Given the description of an element on the screen output the (x, y) to click on. 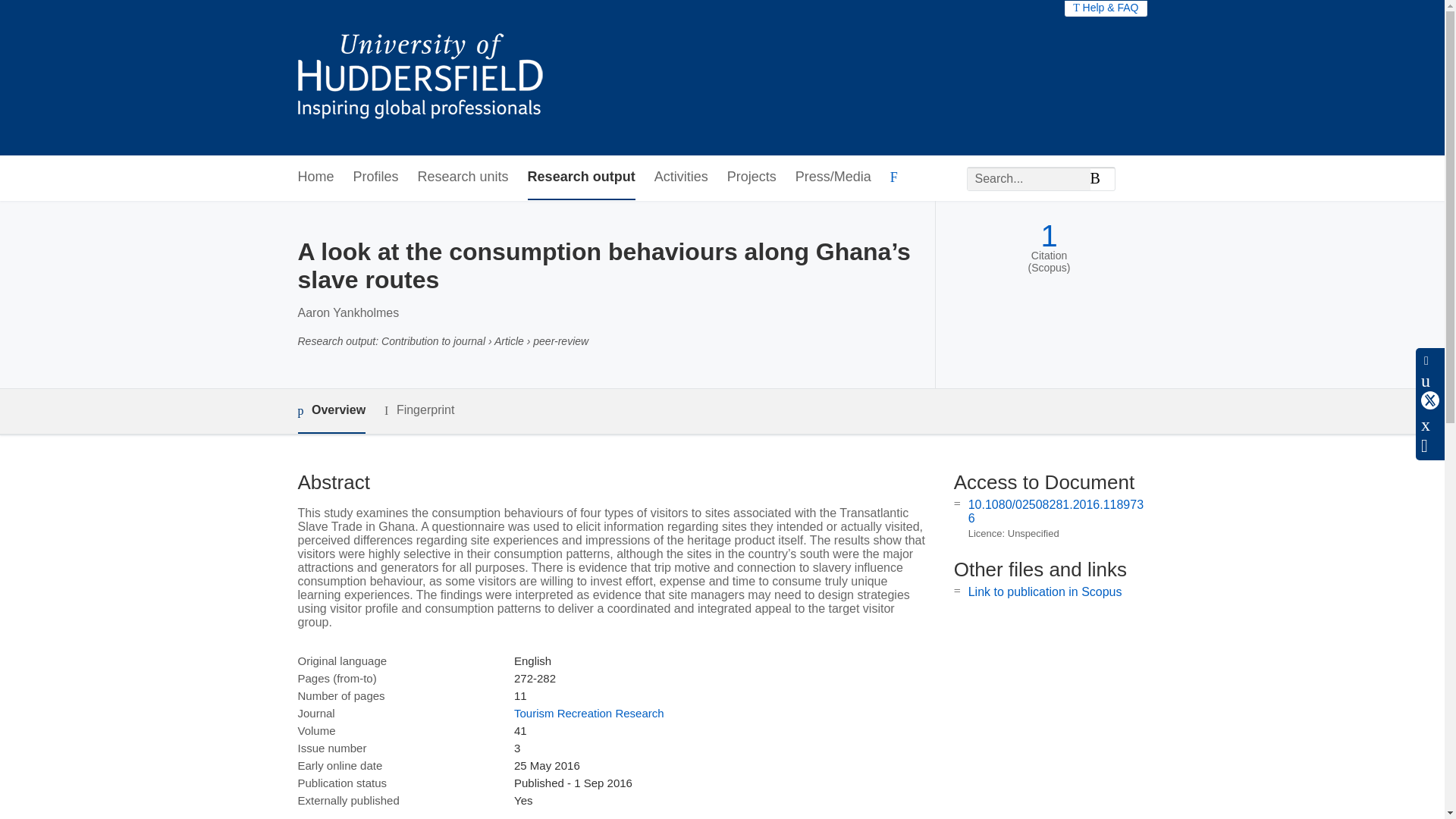
Overview (331, 411)
Tourism Recreation Research (588, 712)
University of Huddersfield Research Portal Home (431, 77)
Fingerprint (419, 410)
Profiles (375, 177)
Projects (751, 177)
Activities (680, 177)
Research units (462, 177)
Research output (580, 177)
Link to publication in Scopus (1045, 591)
